Given the description of an element on the screen output the (x, y) to click on. 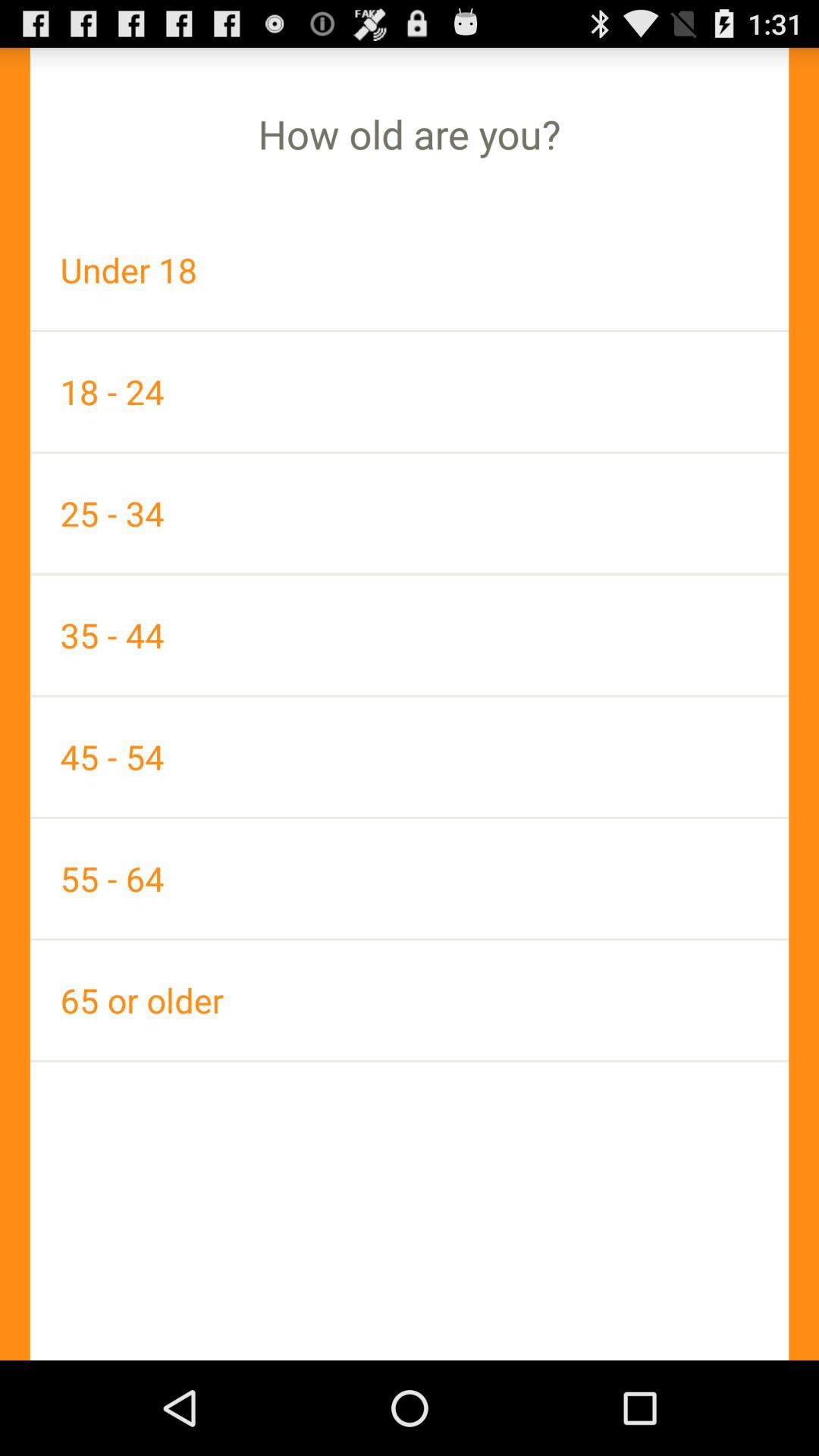
launch the 25 - 34 item (409, 513)
